Given the description of an element on the screen output the (x, y) to click on. 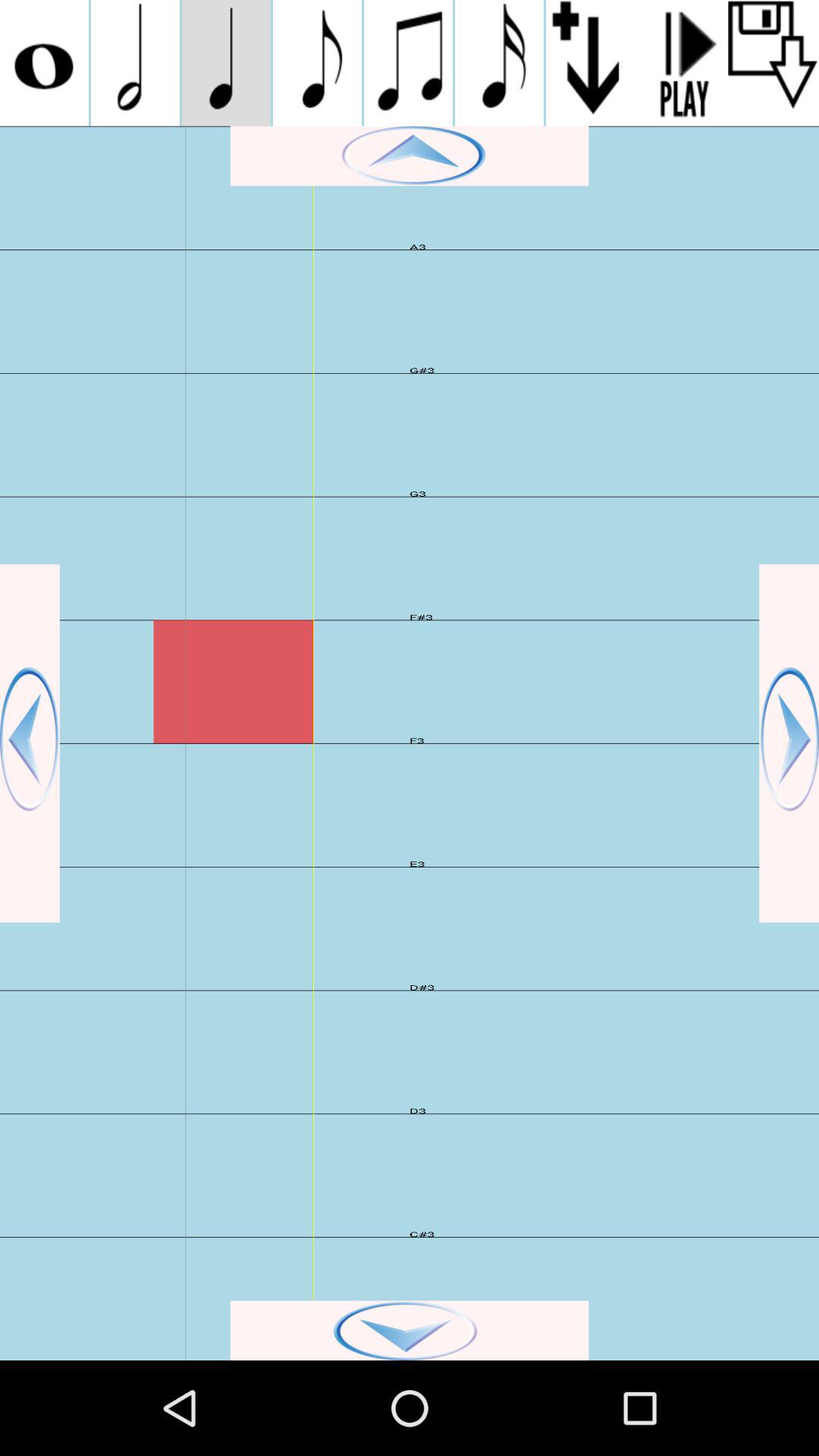
add whole note option (44, 63)
